Given the description of an element on the screen output the (x, y) to click on. 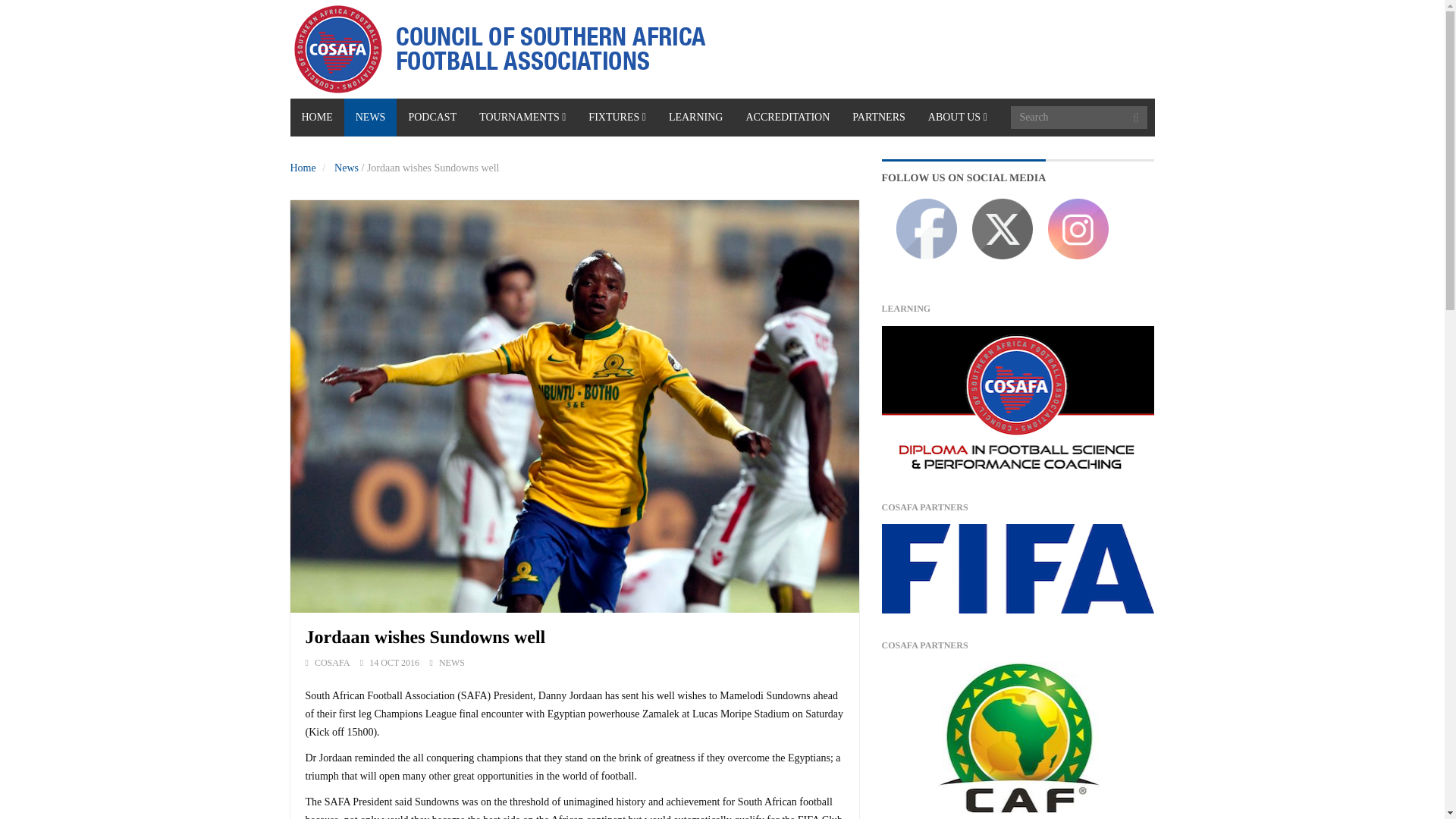
Instagram (1078, 229)
TOURNAMENTS (521, 117)
FIXTURES (617, 117)
Twitter (1002, 229)
NEWS (370, 117)
Posts by cosafa (331, 662)
HOME (316, 117)
Facebook (926, 229)
PODCAST (431, 117)
